Given the description of an element on the screen output the (x, y) to click on. 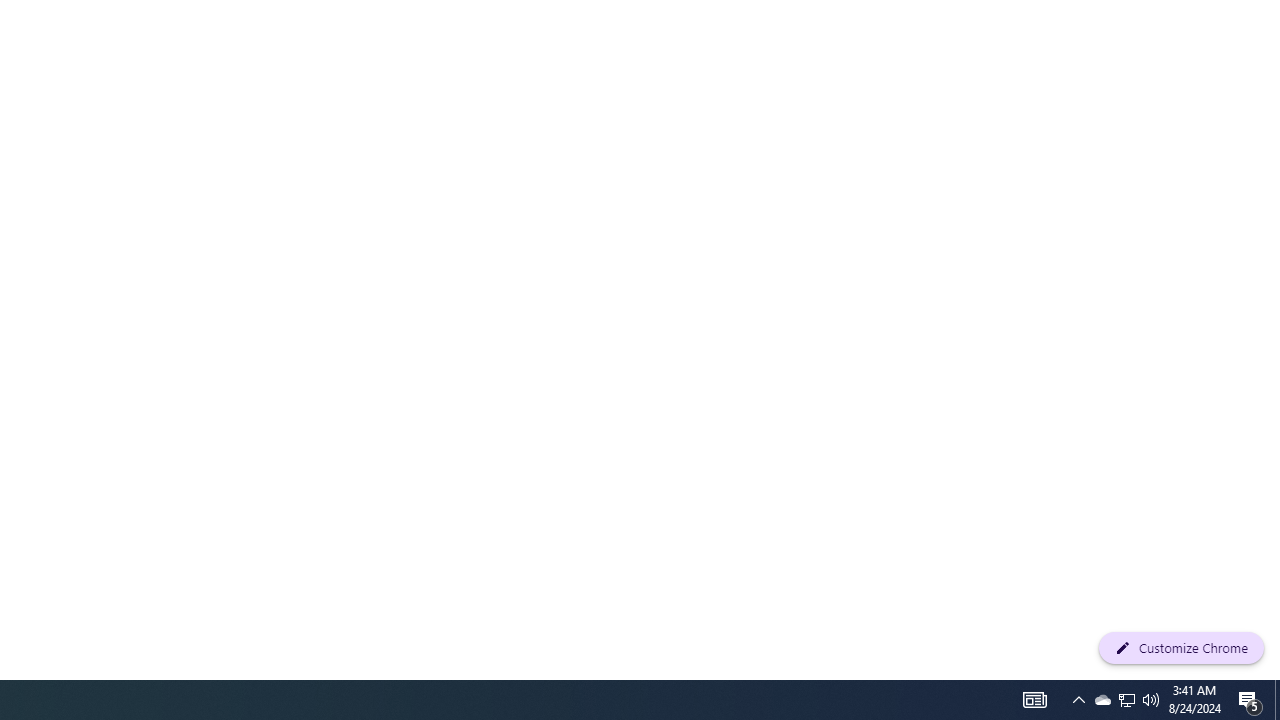
Customize Chrome (1181, 647)
